Given the description of an element on the screen output the (x, y) to click on. 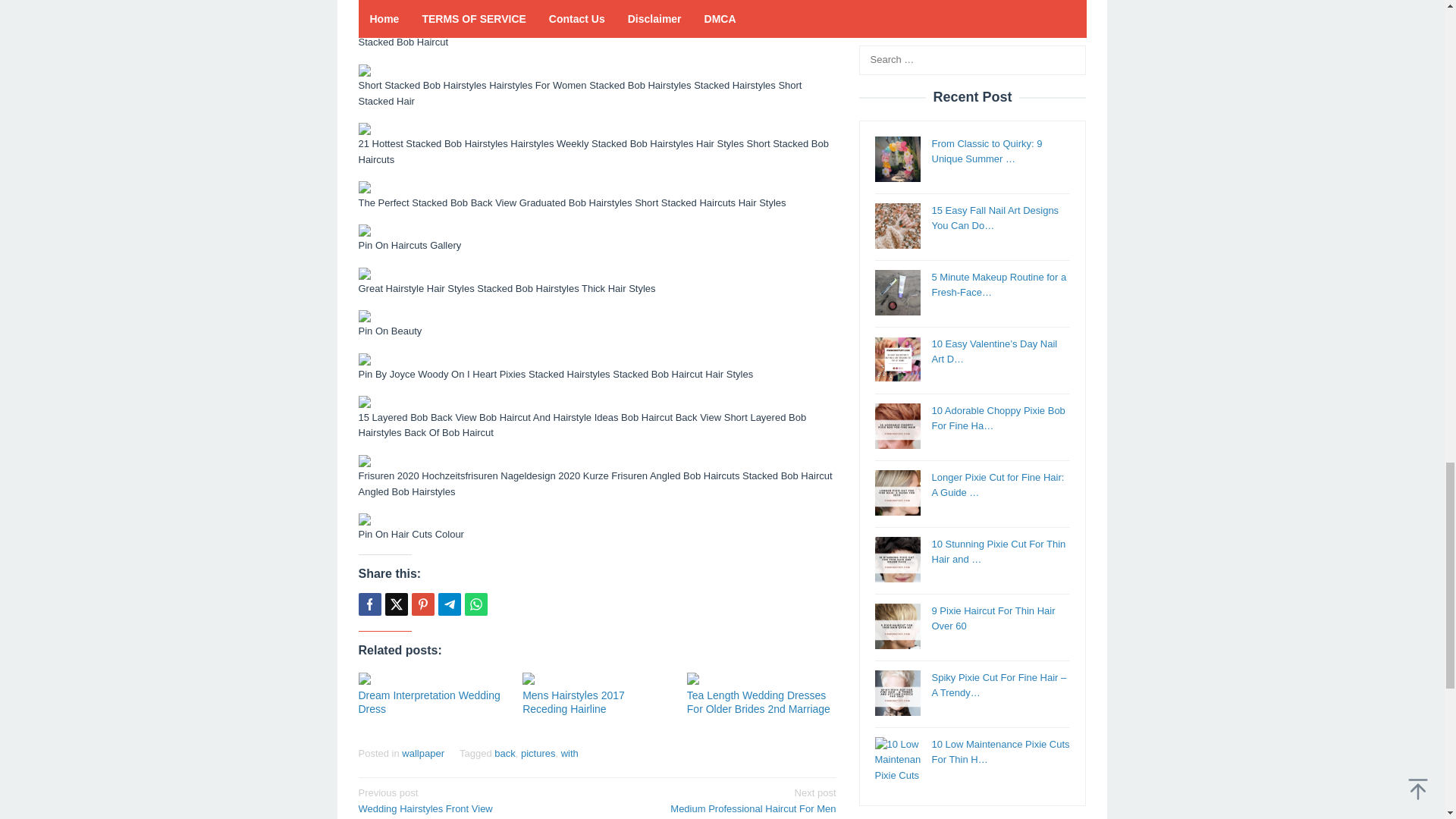
Telegram Share (449, 603)
Permalink to: Dream Interpretation Wedding Dress (428, 701)
Share this (369, 603)
Permalink to: Dream Interpretation Wedding Dress (432, 678)
Tweet this (396, 603)
Pin this (421, 603)
Dream Interpretation Wedding Dress (428, 701)
Permalink to: Mens Hairstyles 2017 Receding Hairline (573, 701)
Permalink to: Mens Hairstyles 2017 Receding Hairline (596, 678)
Whatsapp (475, 603)
